Given the description of an element on the screen output the (x, y) to click on. 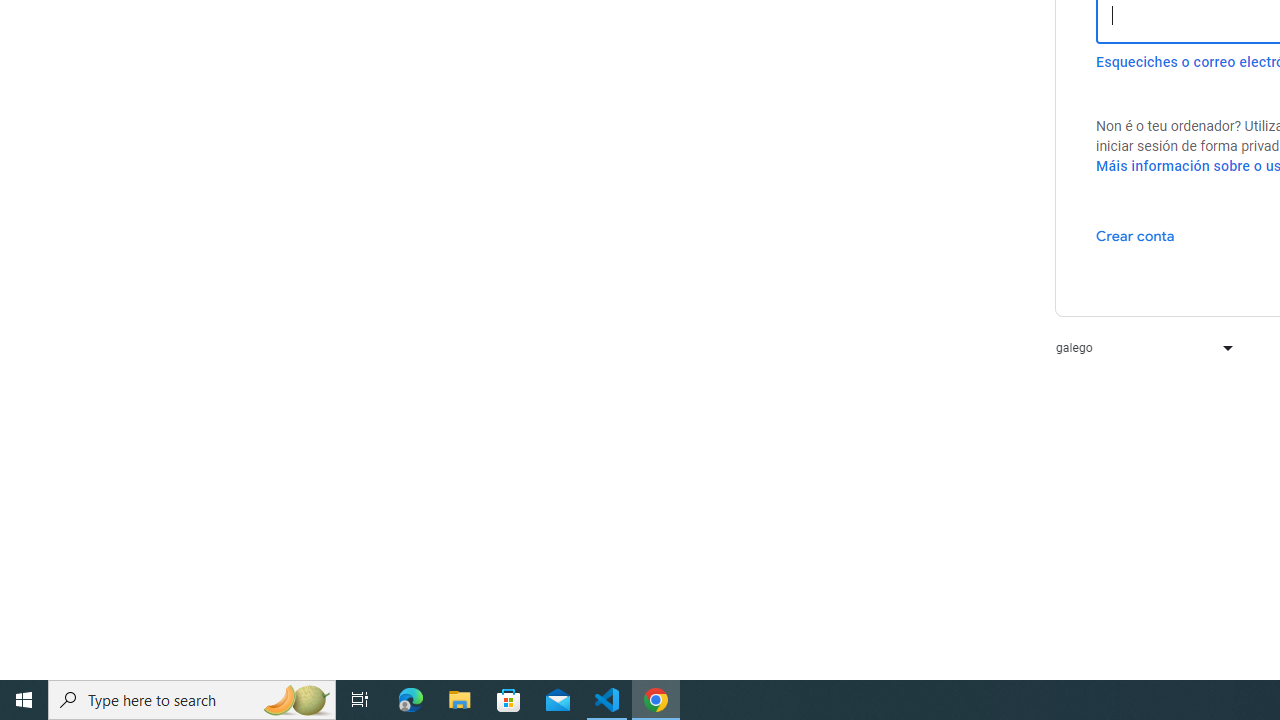
galego (1139, 347)
Crear conta (1135, 235)
